Given the description of an element on the screen output the (x, y) to click on. 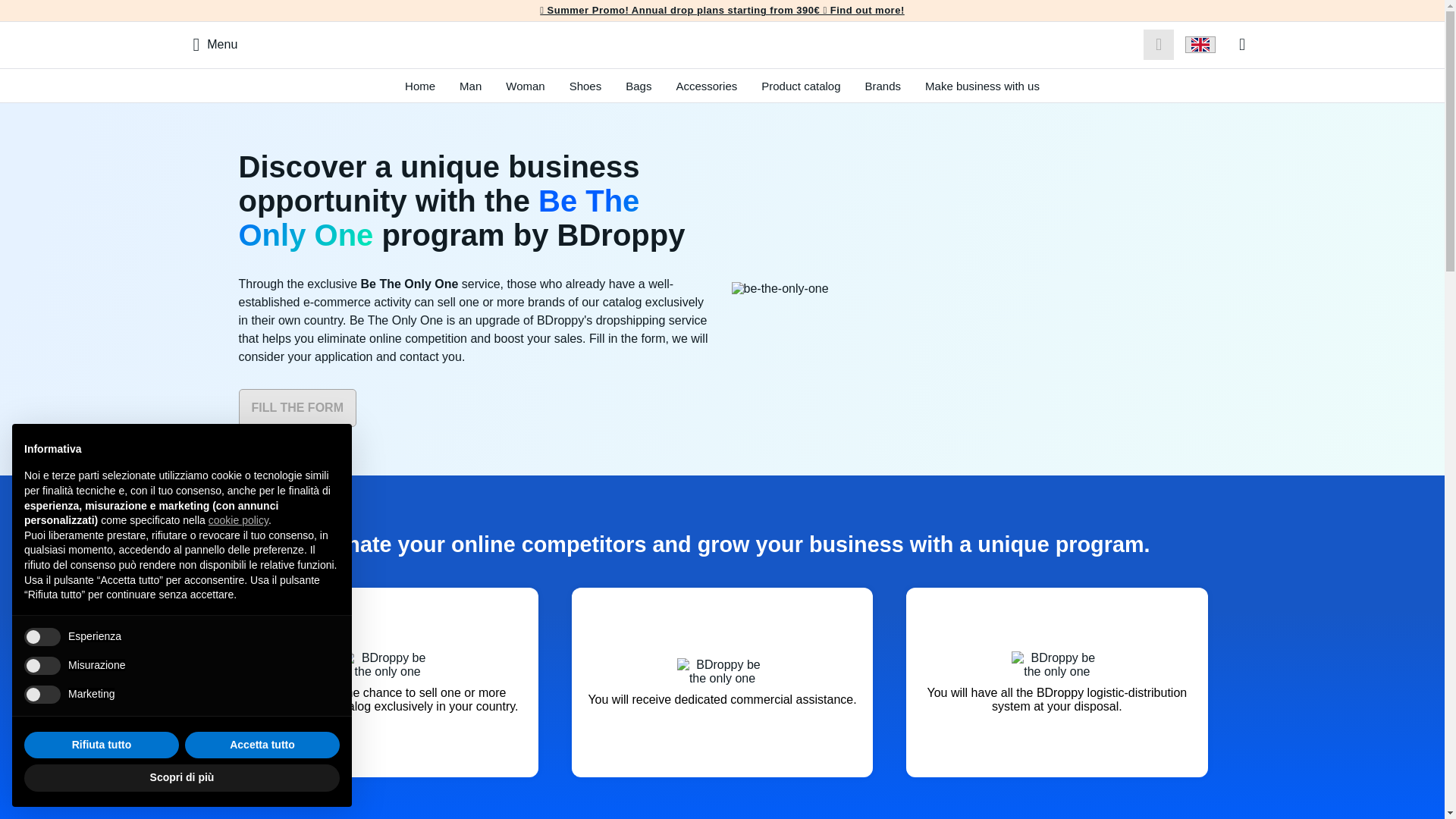
Accetta tutto (261, 745)
false (42, 694)
false (42, 637)
FILL THE FORM (296, 407)
cookie policy (237, 520)
false (42, 665)
Rifiuta tutto (101, 745)
